Given the description of an element on the screen output the (x, y) to click on. 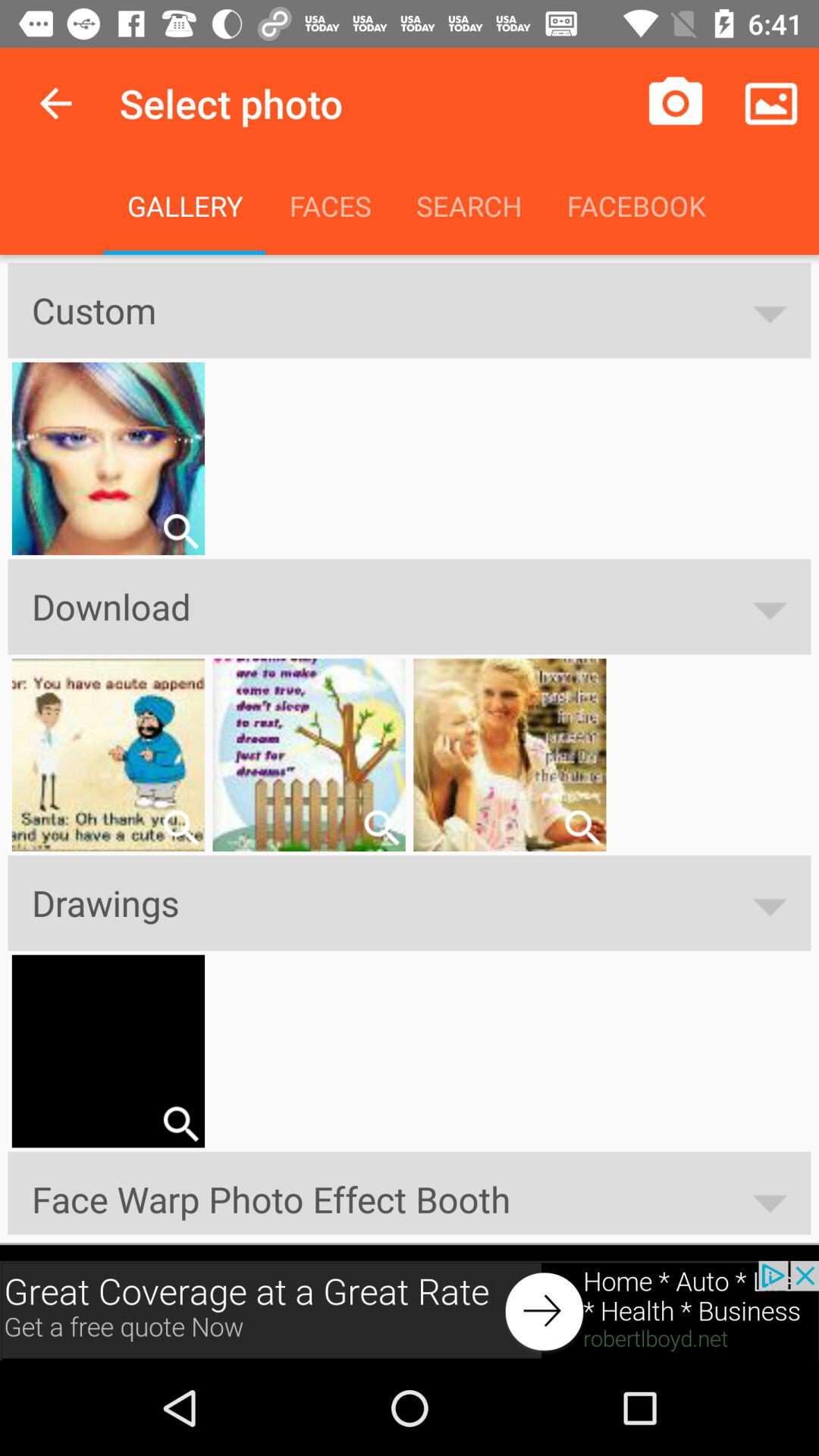
search in the option (582, 827)
